Given the description of an element on the screen output the (x, y) to click on. 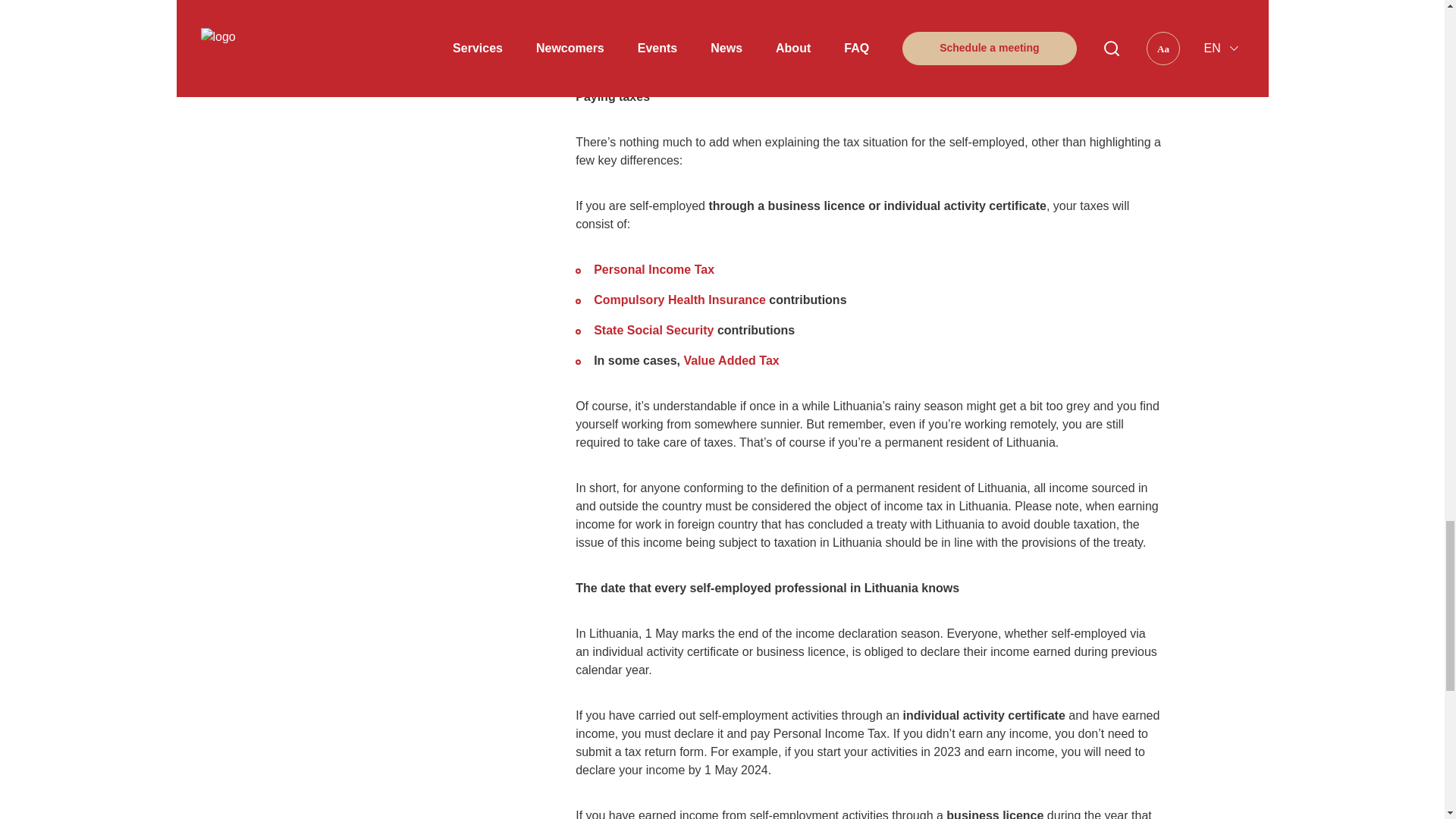
Compulsory Health Insurance (679, 299)
Personal Income Tax (654, 269)
Value Added Tax (730, 359)
State Social Security  (655, 329)
form FR0508 (840, 40)
